Given the description of an element on the screen output the (x, y) to click on. 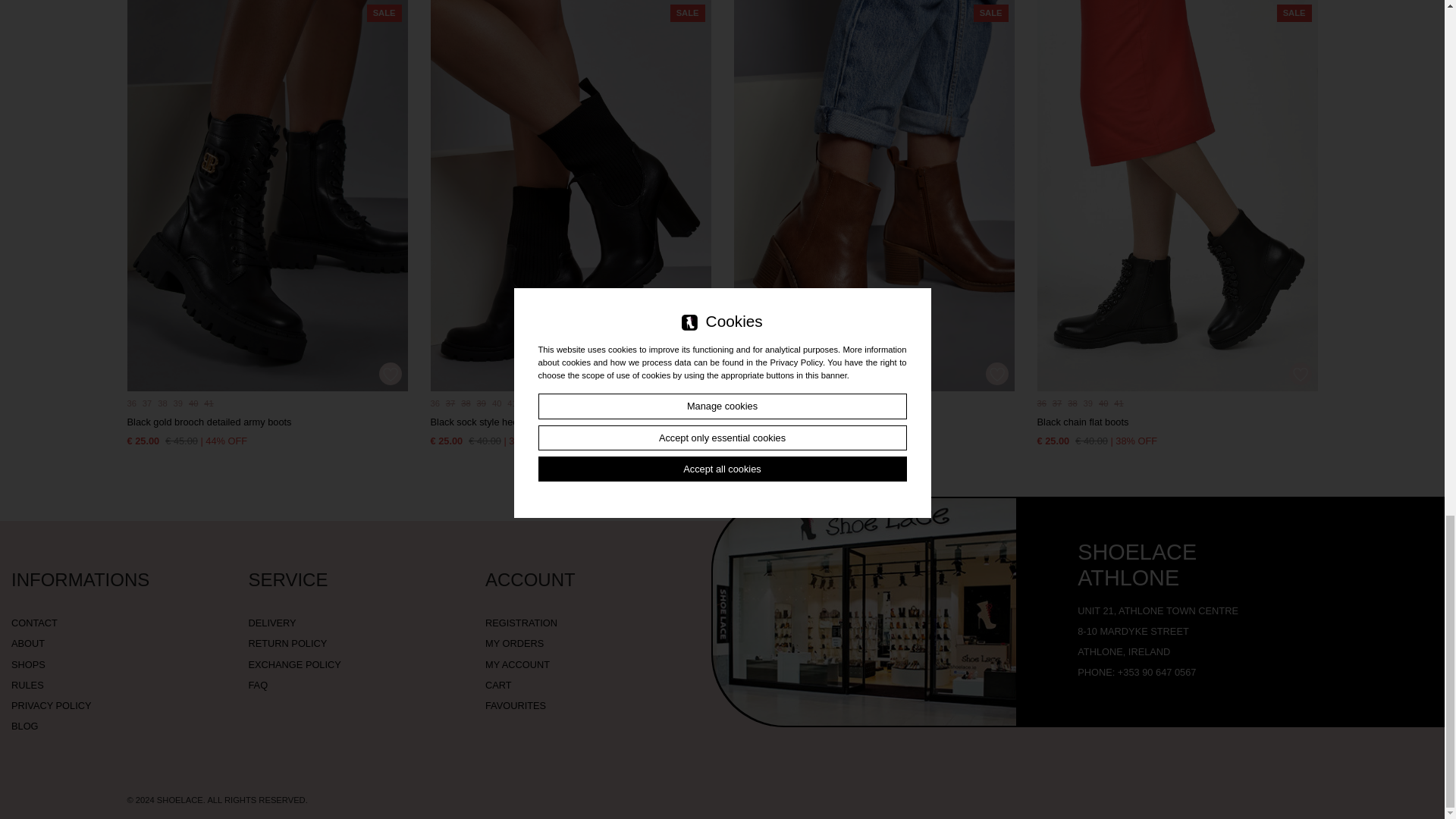
My account (517, 664)
Exchange Policy (294, 664)
Delivery (272, 622)
BLOG (25, 726)
FAQ (257, 685)
Privacy policy (51, 705)
My orders (513, 643)
Contact (34, 622)
Registration (520, 622)
Shops (28, 664)
Return policy (287, 643)
About (28, 643)
Cart (498, 685)
Rules (27, 685)
